Given the description of an element on the screen output the (x, y) to click on. 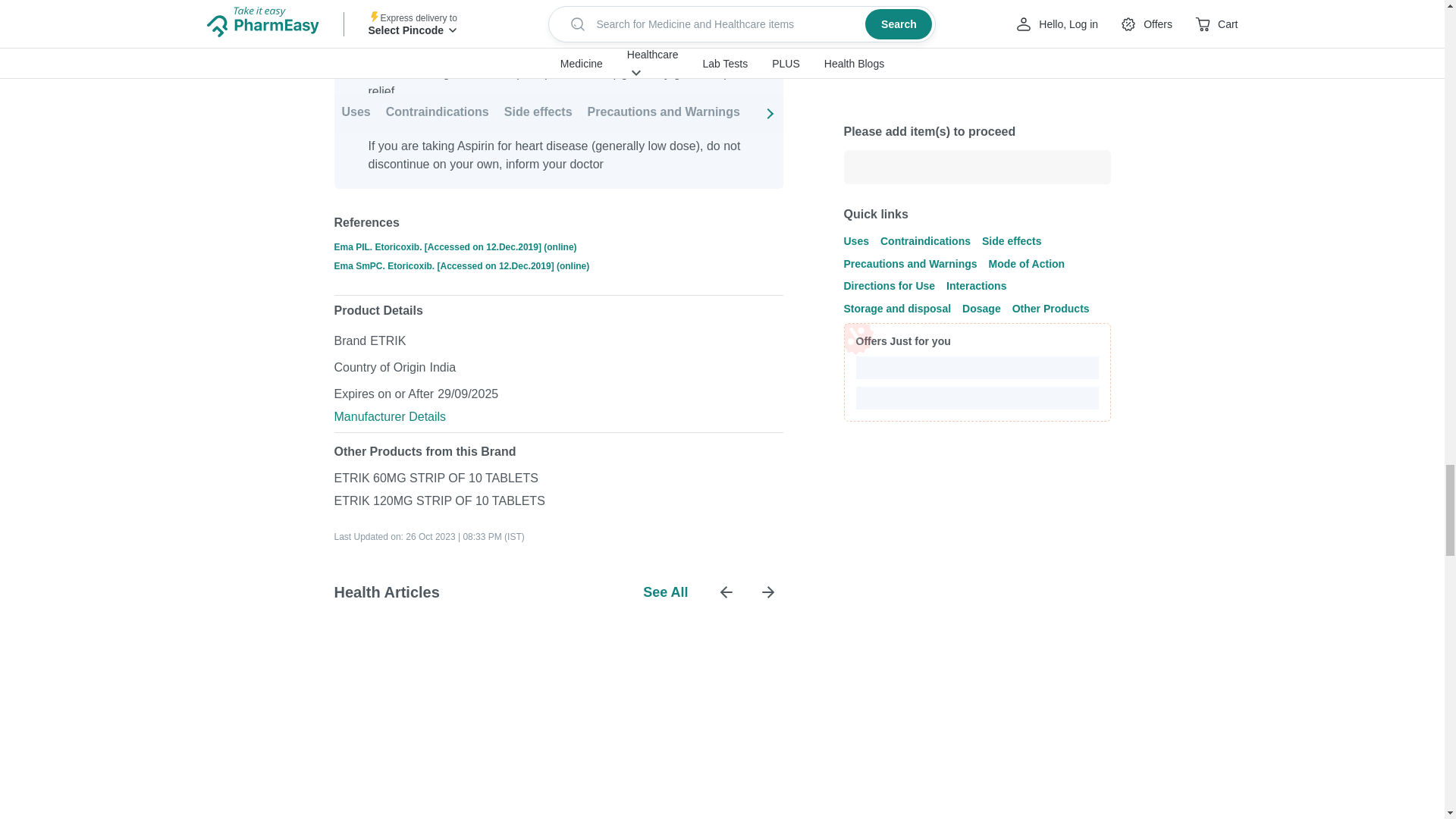
ETRIK 60MG STRIP OF 10 TABLETS (435, 477)
ETRIK 120MG STRIP OF 10 TABLETS (438, 500)
See All (665, 592)
